Given the description of an element on the screen output the (x, y) to click on. 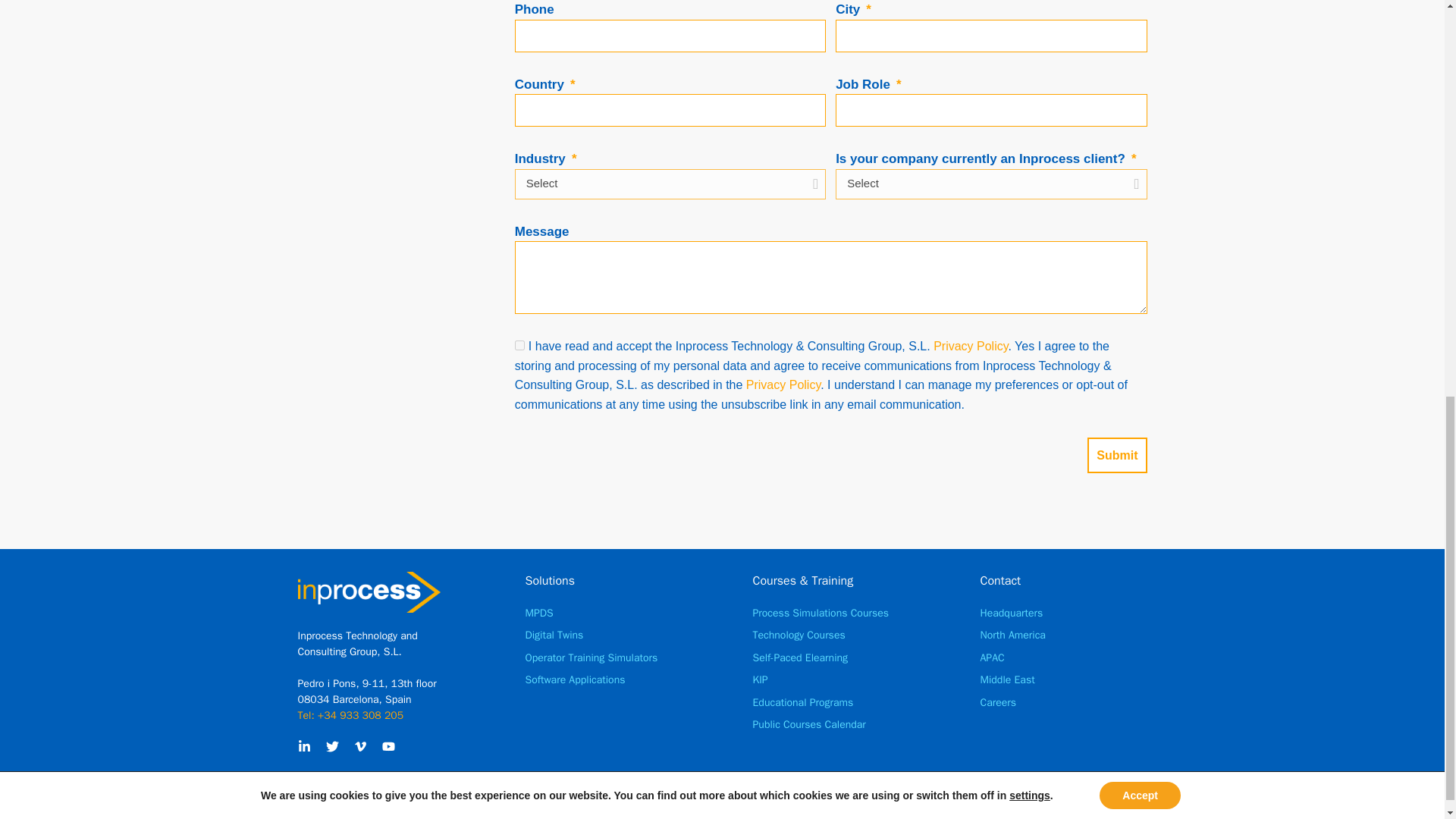
Privacy Policy (970, 345)
on (519, 345)
Technology Courses (798, 634)
Submit (1117, 455)
Operator Training Simulators (591, 657)
MPDS (538, 612)
Privacy Policy (783, 384)
Scroll back to top (1406, 755)
Software Applications (574, 679)
Digital Twins (553, 634)
Process Simulations Courses (820, 612)
Self-Paced Elearning (799, 657)
